Given the description of an element on the screen output the (x, y) to click on. 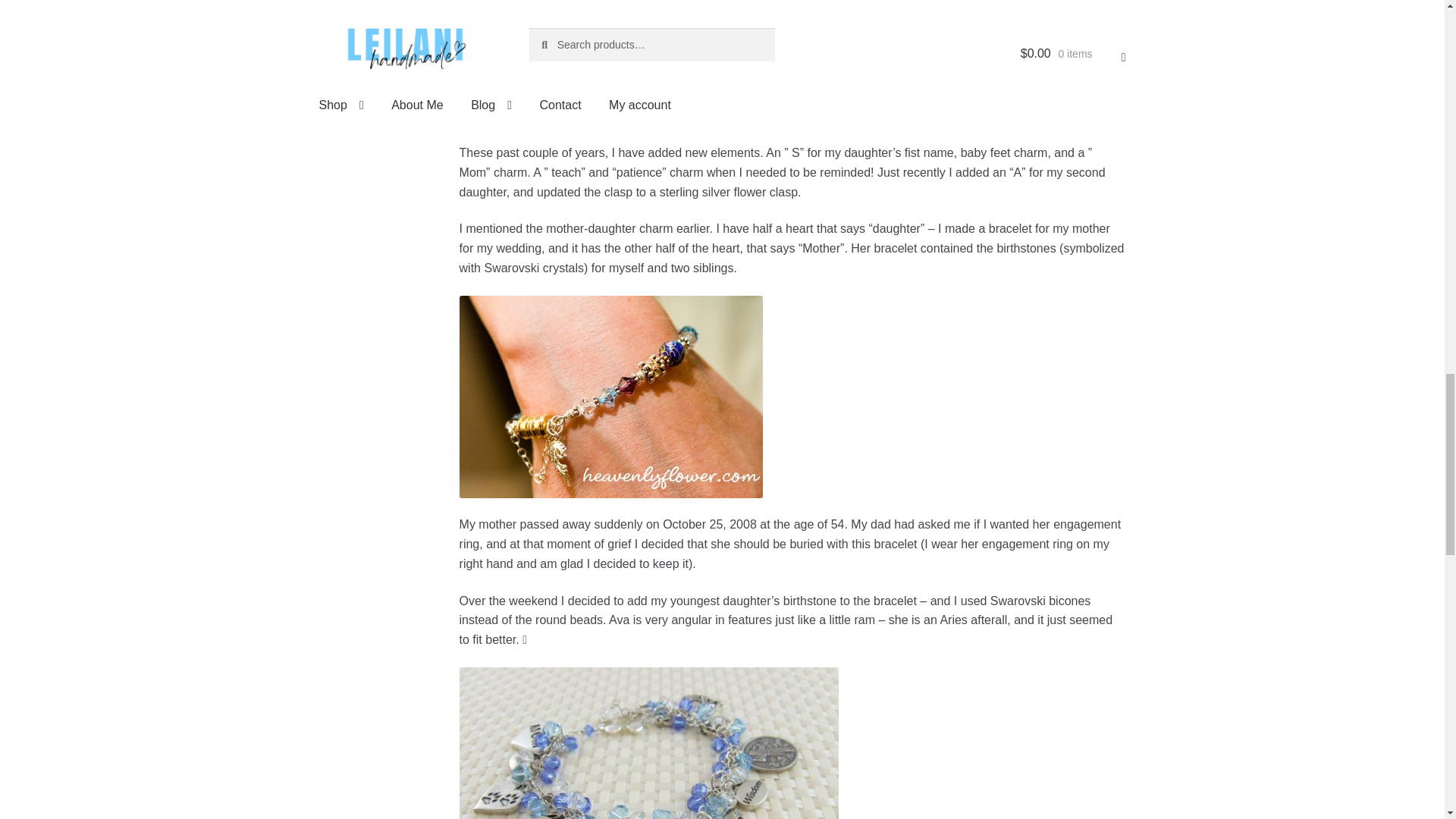
DSCF8285 (611, 63)
DSCF8297 (649, 743)
